Given the description of an element on the screen output the (x, y) to click on. 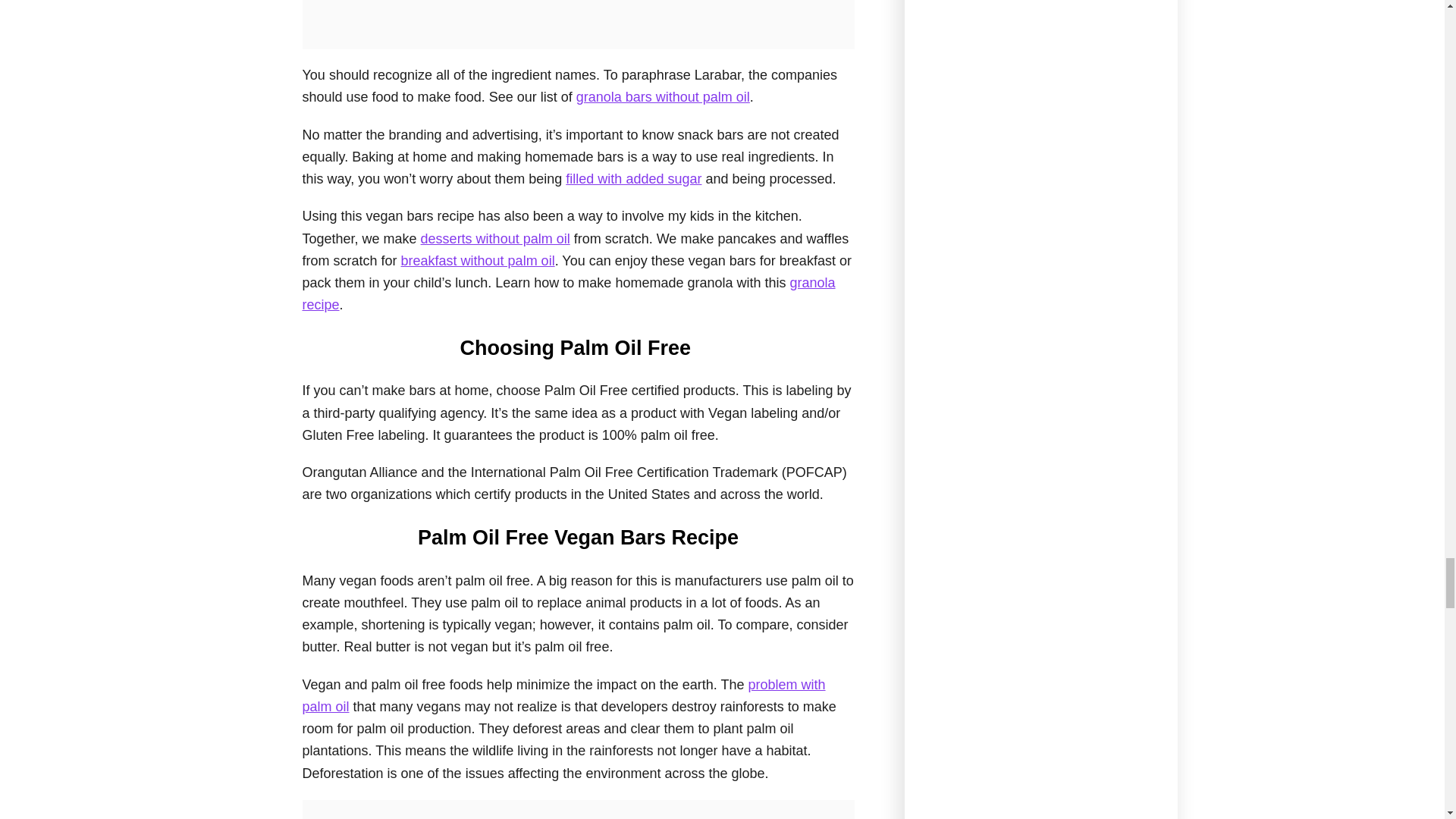
desserts without palm oil (495, 238)
problem with palm oil (563, 695)
filled with added sugar (633, 178)
breakfast without palm oil (477, 260)
granola recipe (567, 293)
granola bars without palm oil (662, 96)
